Given the description of an element on the screen output the (x, y) to click on. 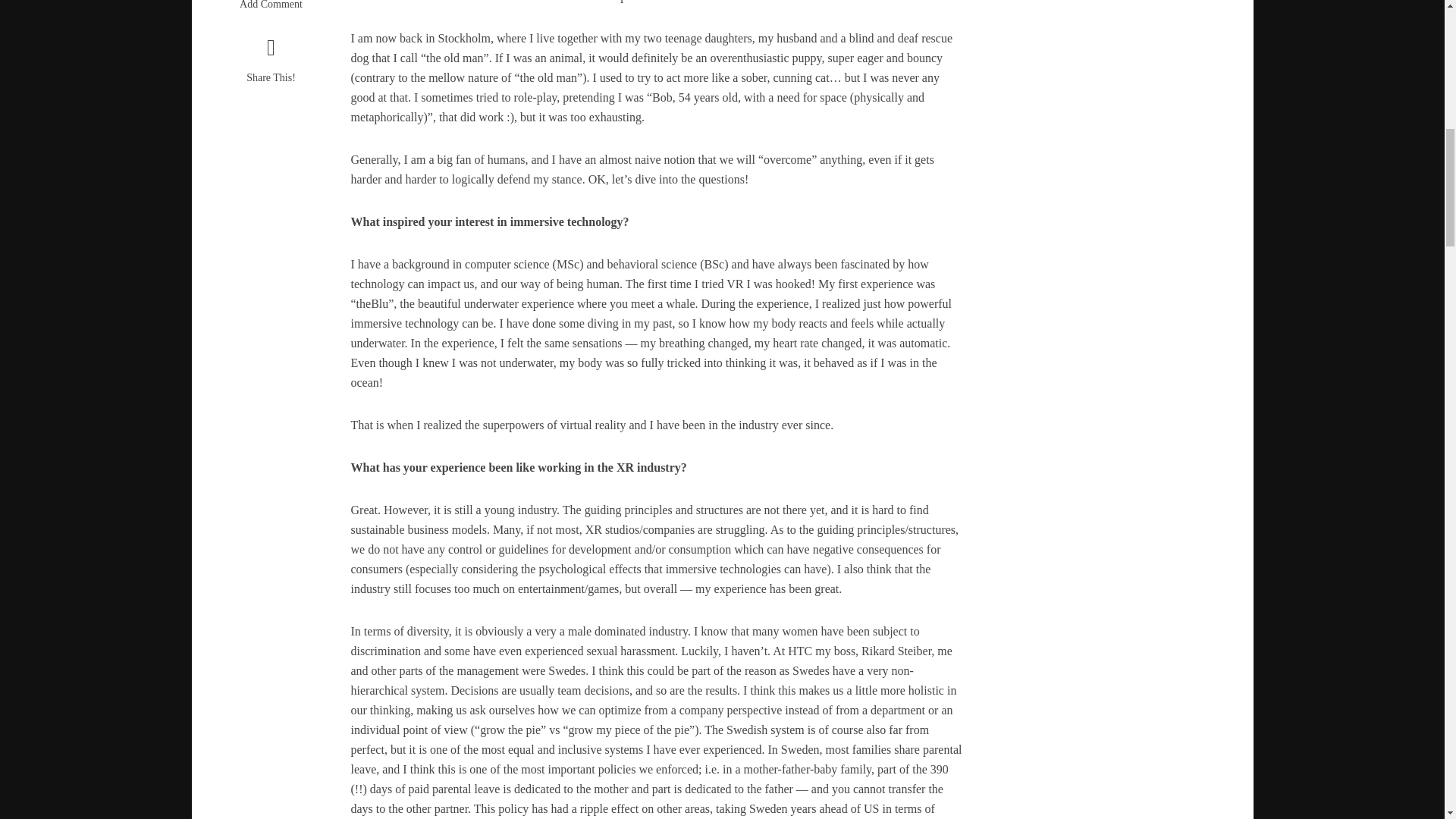
Add Comment (270, 6)
